Given the description of an element on the screen output the (x, y) to click on. 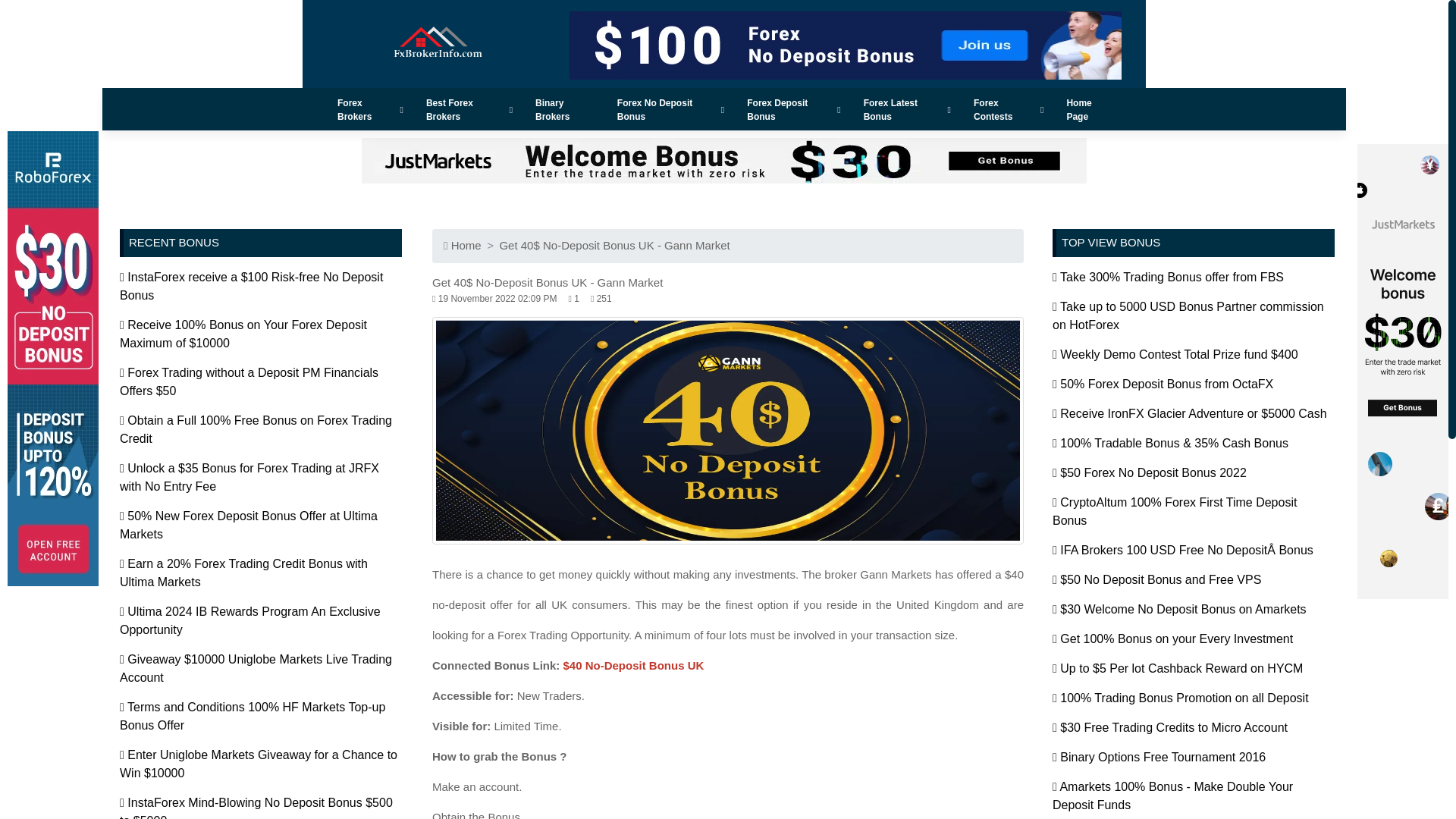
Forex Deposit Bonus (793, 109)
Forex Brokers (370, 109)
Best Forex Brokers (469, 109)
Binary Brokers (564, 109)
Forex No Deposit Bonus (670, 109)
Forex Latest Bonus (906, 109)
